Given the description of an element on the screen output the (x, y) to click on. 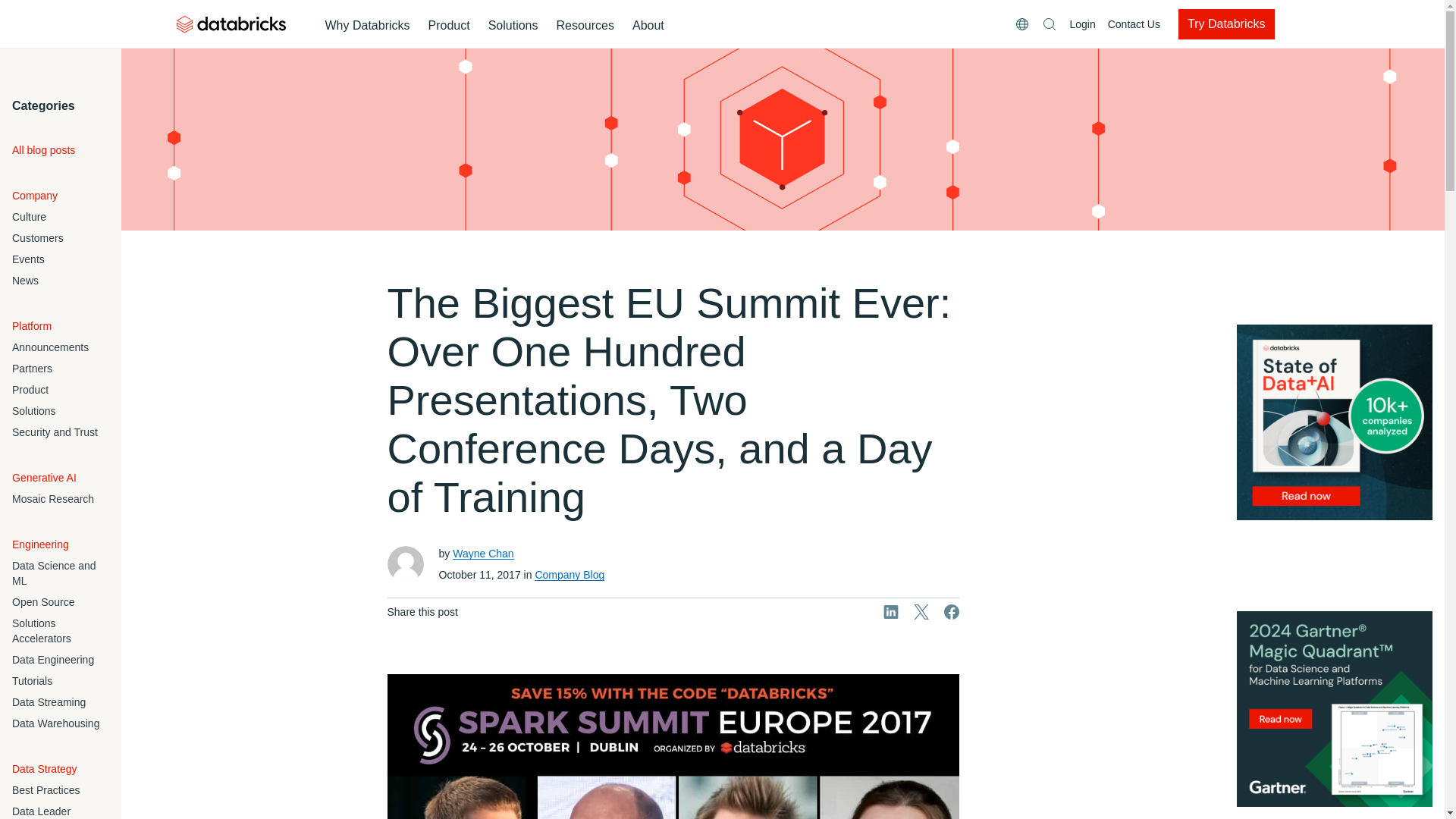
Product (449, 25)
Solutions (513, 25)
Why Databricks (367, 25)
